Given the description of an element on the screen output the (x, y) to click on. 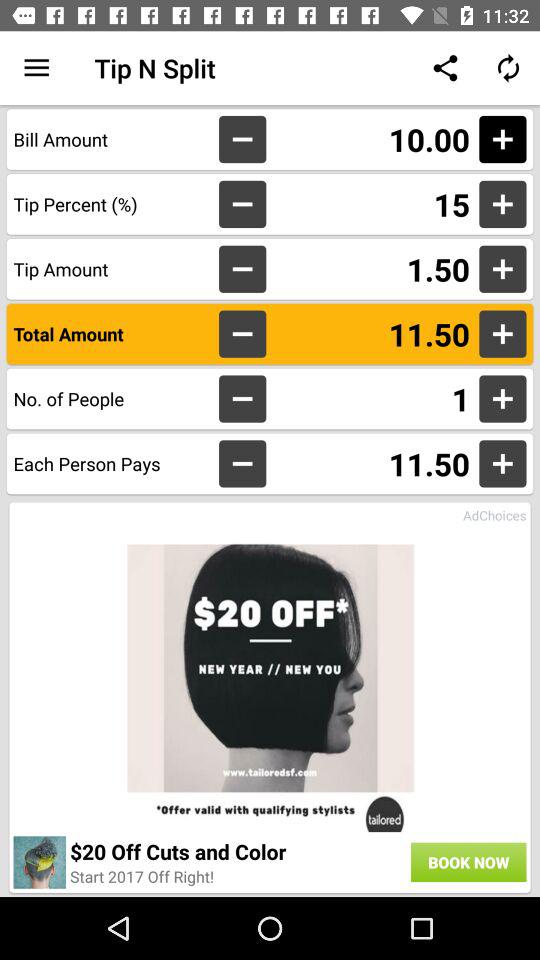
swipe until 15 item (372, 204)
